Given the description of an element on the screen output the (x, y) to click on. 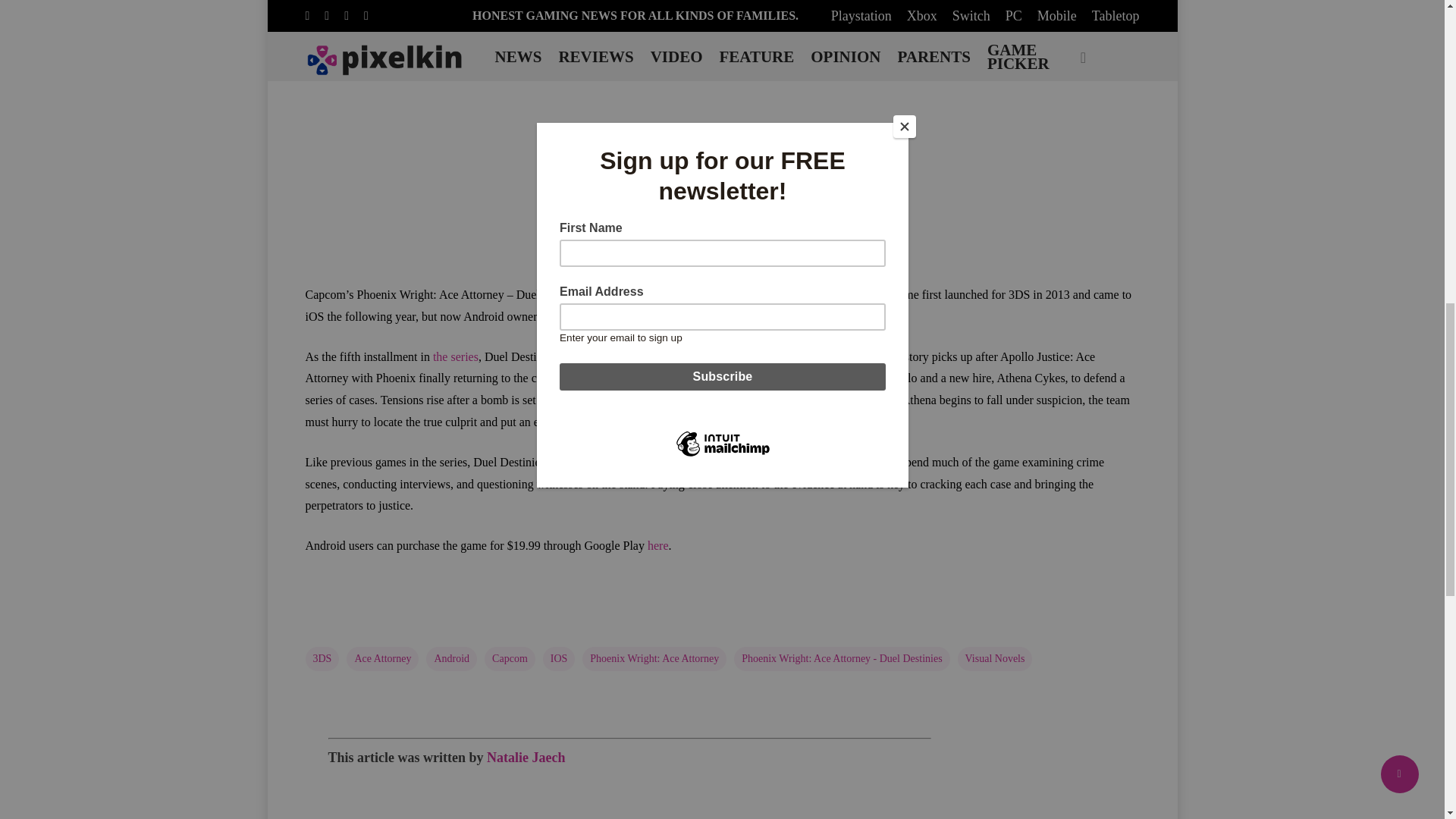
here (657, 545)
Phoenix Wright: Ace Attorney (654, 658)
Phoenix Wright: Ace Attorney - Duel Destinies (841, 658)
IOS (559, 658)
3DS (321, 658)
Android (451, 658)
Ace Attorney (382, 658)
Capcom (509, 658)
the series (455, 356)
Posts by Natalie Jaech (525, 757)
